Given the description of an element on the screen output the (x, y) to click on. 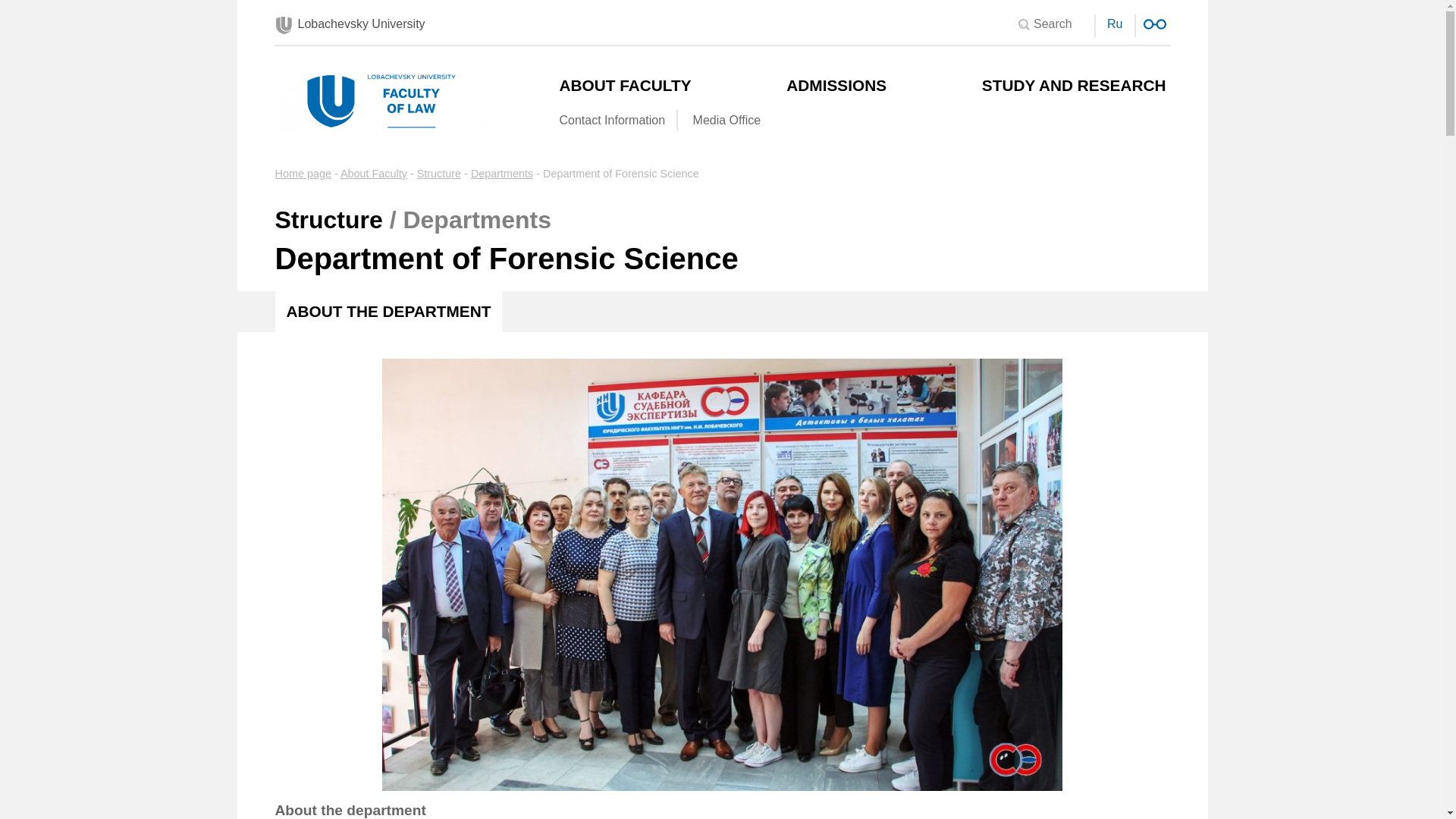
ADMISSIONS (837, 85)
Departments (501, 173)
STUDY AND RESEARCH (1075, 85)
Ru (1114, 23)
ABOUT FACULTY (627, 85)
About Faculty (373, 173)
Media Office (727, 119)
Structure (438, 173)
Home page (302, 173)
Contact Information (612, 119)
